Given the description of an element on the screen output the (x, y) to click on. 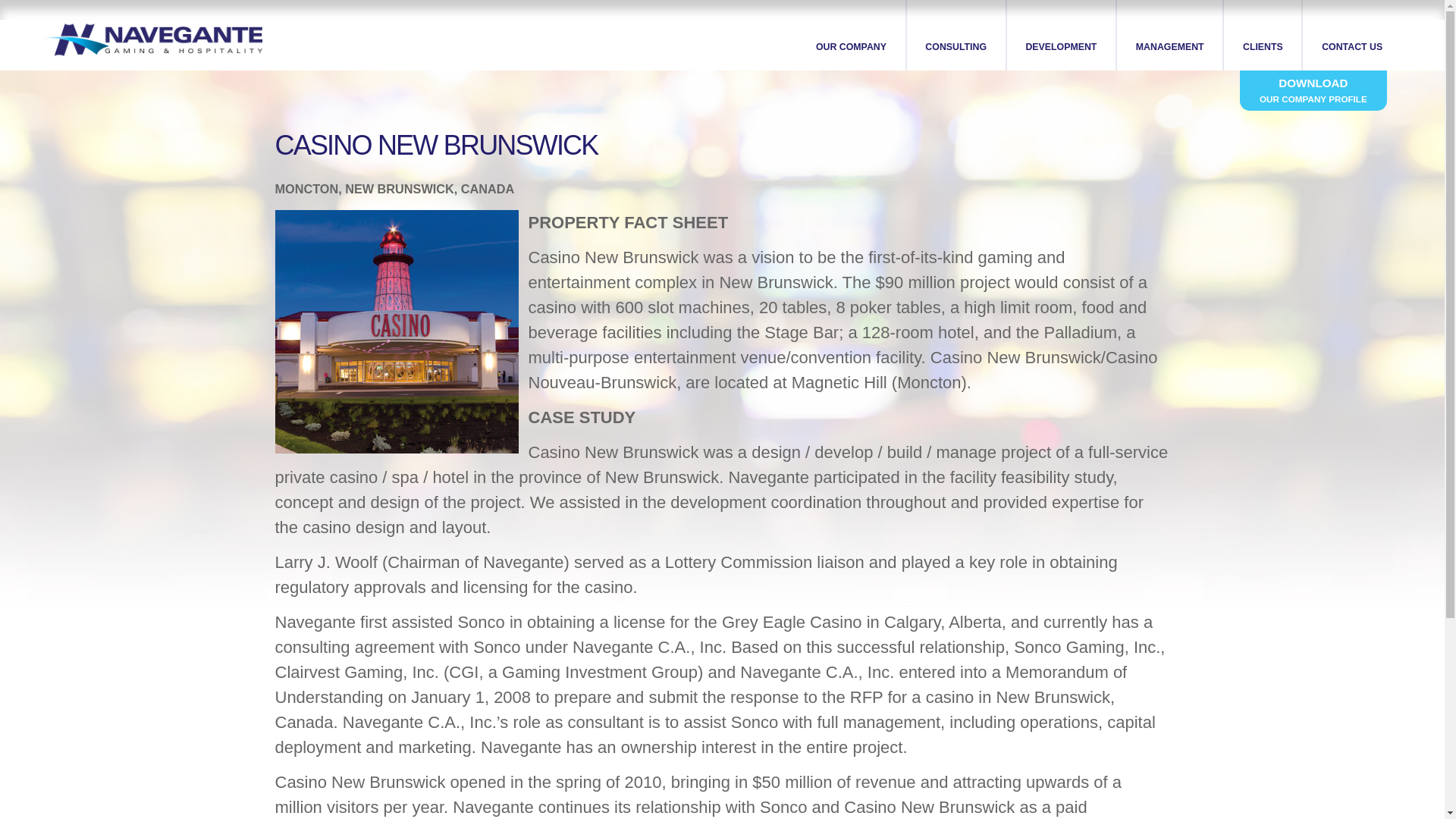
DEVELOPMENT (1061, 35)
CLIENTS (1263, 35)
MANAGEMENT (1170, 35)
Skip to main content (693, 1)
OUR COMPANY (850, 35)
CONTACT US (1351, 35)
CONSULTING (957, 35)
